Given the description of an element on the screen output the (x, y) to click on. 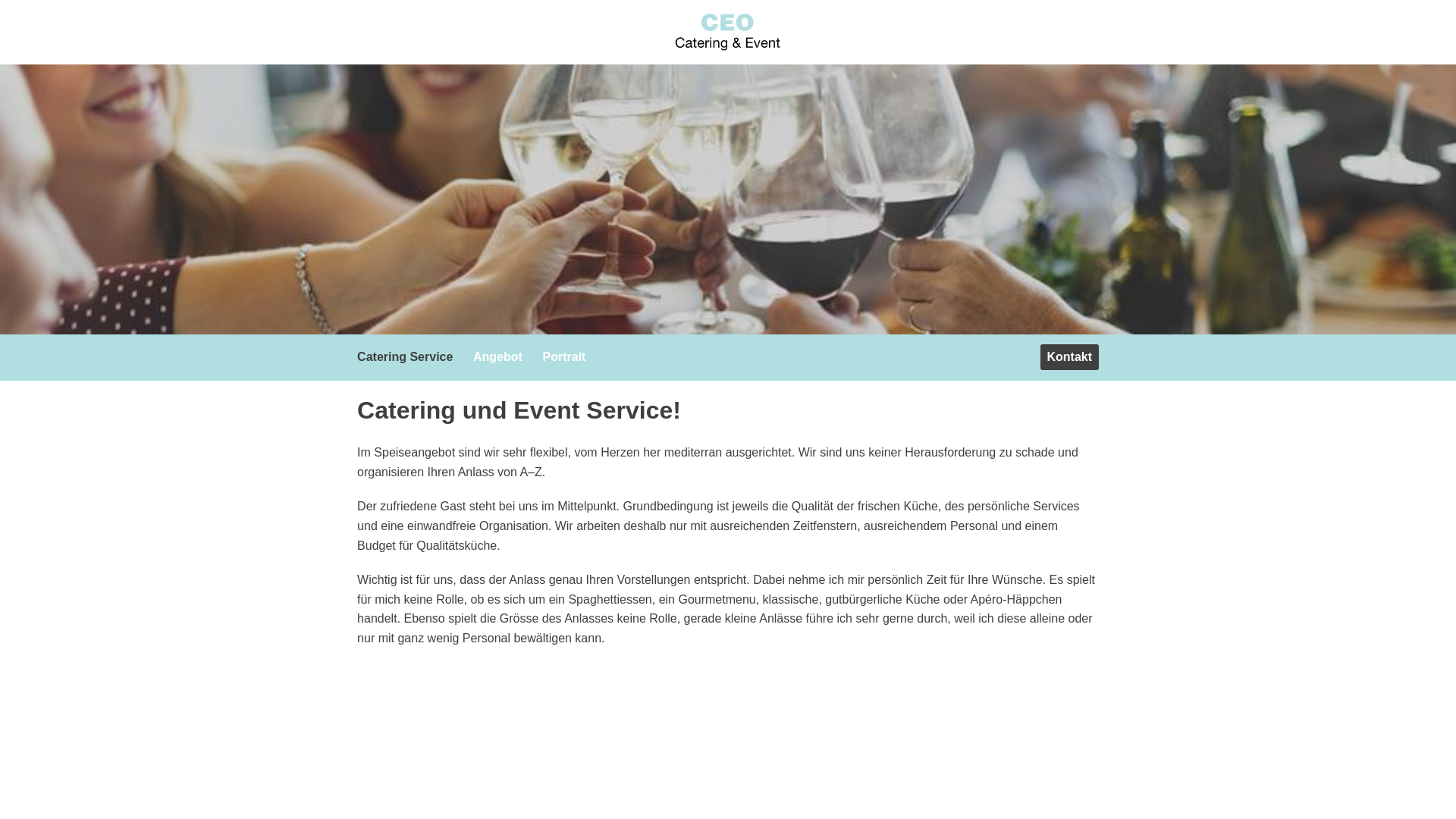
Portrait Element type: text (567, 356)
Kontakt Element type: text (1069, 357)
Catering Service Element type: text (408, 356)
Startseite Element type: hover (727, 31)
Angebot Element type: text (501, 356)
